Given the description of an element on the screen output the (x, y) to click on. 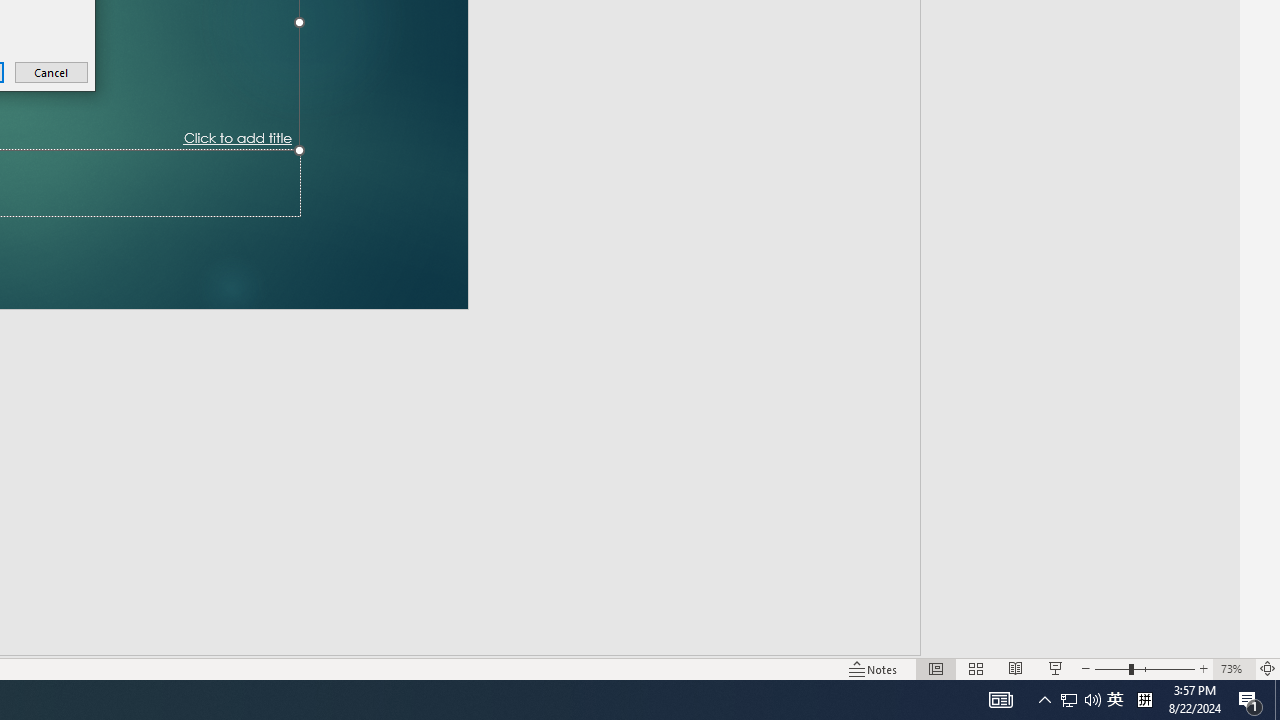
Cancel (51, 72)
Action Center, 1 new notification (1250, 699)
Show desktop (1115, 699)
Zoom 73% (1277, 699)
Notification Chevron (1234, 668)
Tray Input Indicator - Chinese (Simplified, China) (1044, 699)
Q2790: 100% (1144, 699)
